Given the description of an element on the screen output the (x, y) to click on. 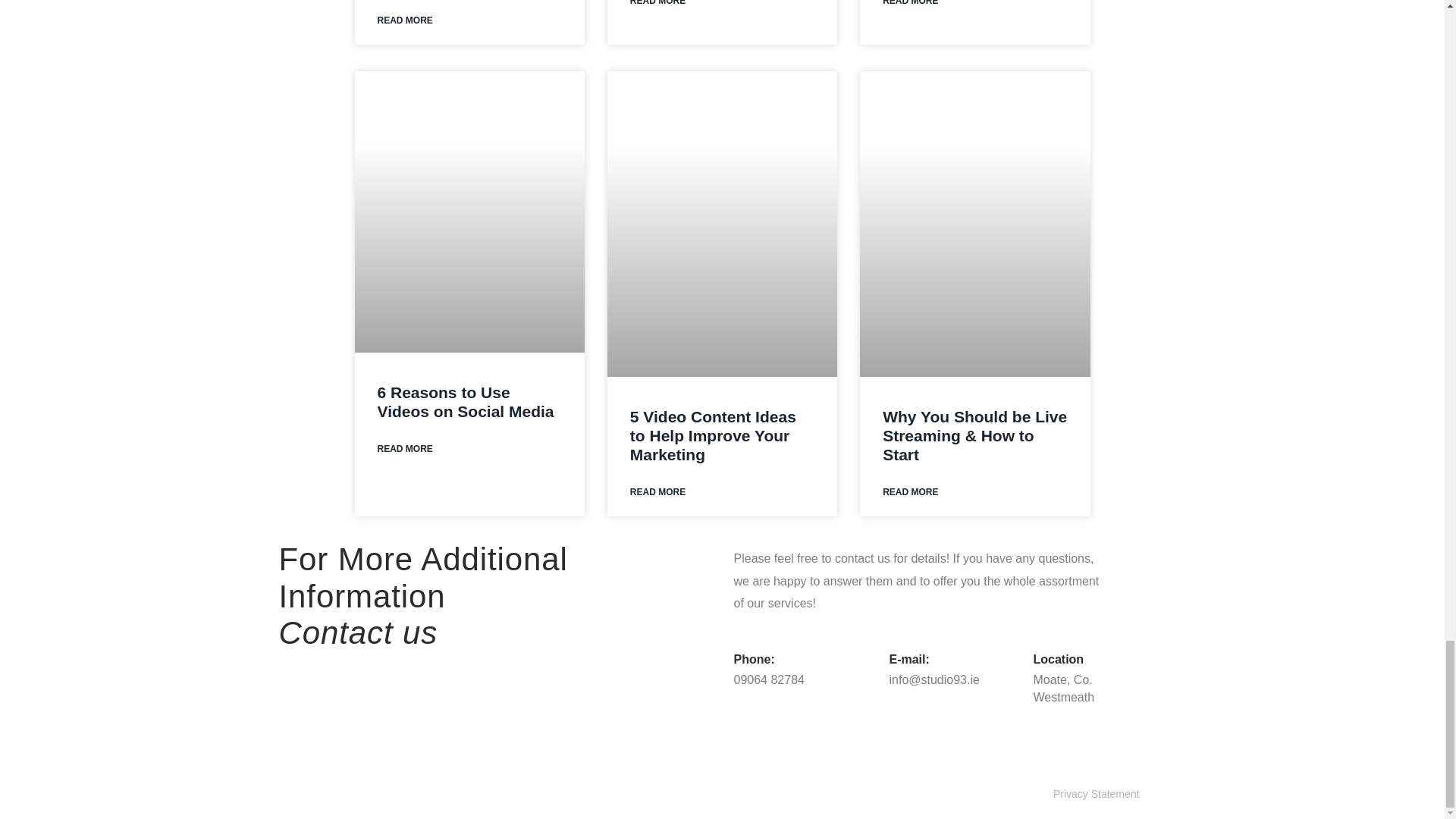
READ MORE (404, 20)
